Given the description of an element on the screen output the (x, y) to click on. 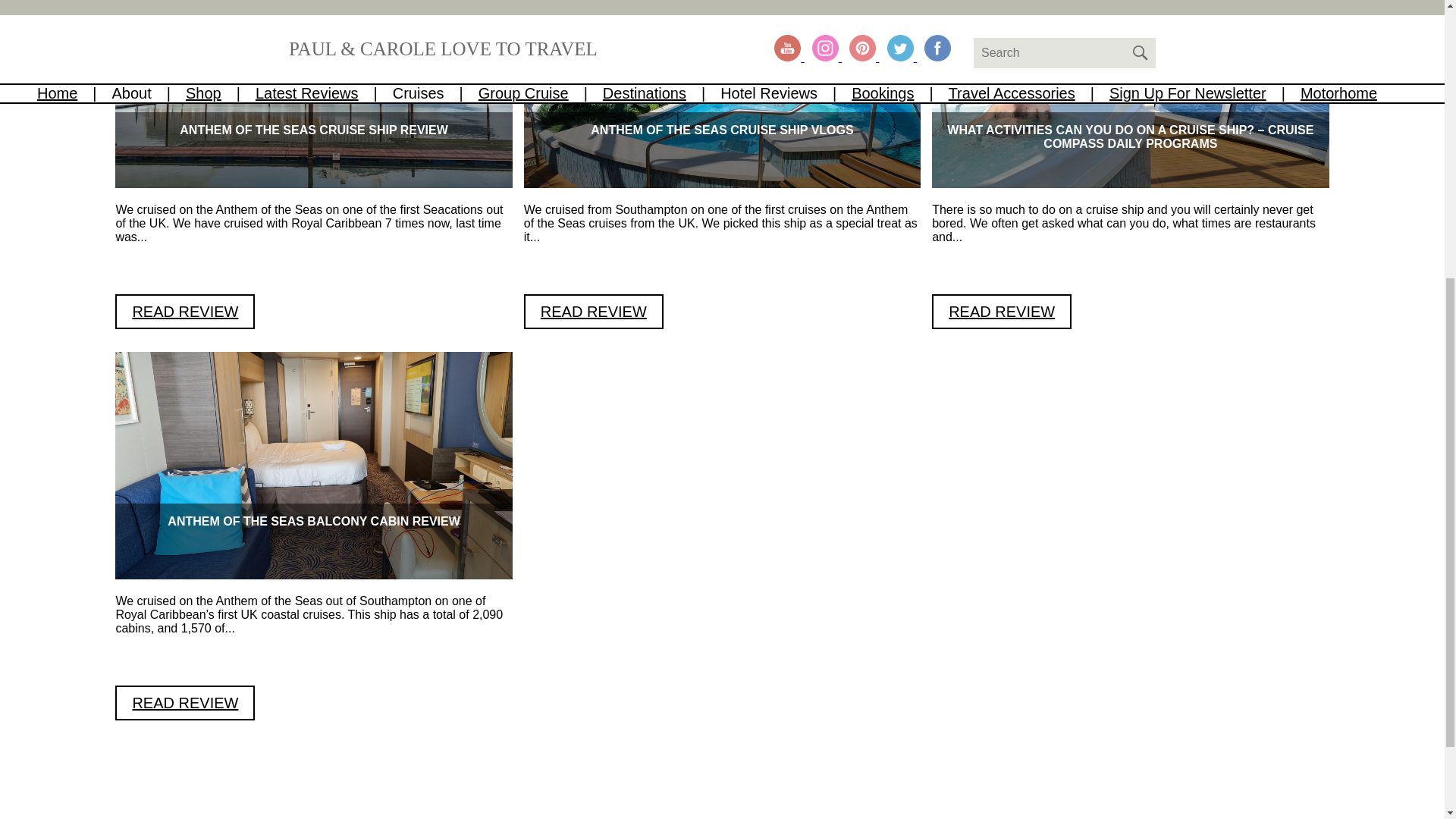
Anthem of the Seas Cruise Ship Review (184, 311)
Anthem of the Seas Cruise Ship Vlogs (593, 311)
Anthem of the Seas Balcony Cabin Review (184, 702)
